Given the description of an element on the screen output the (x, y) to click on. 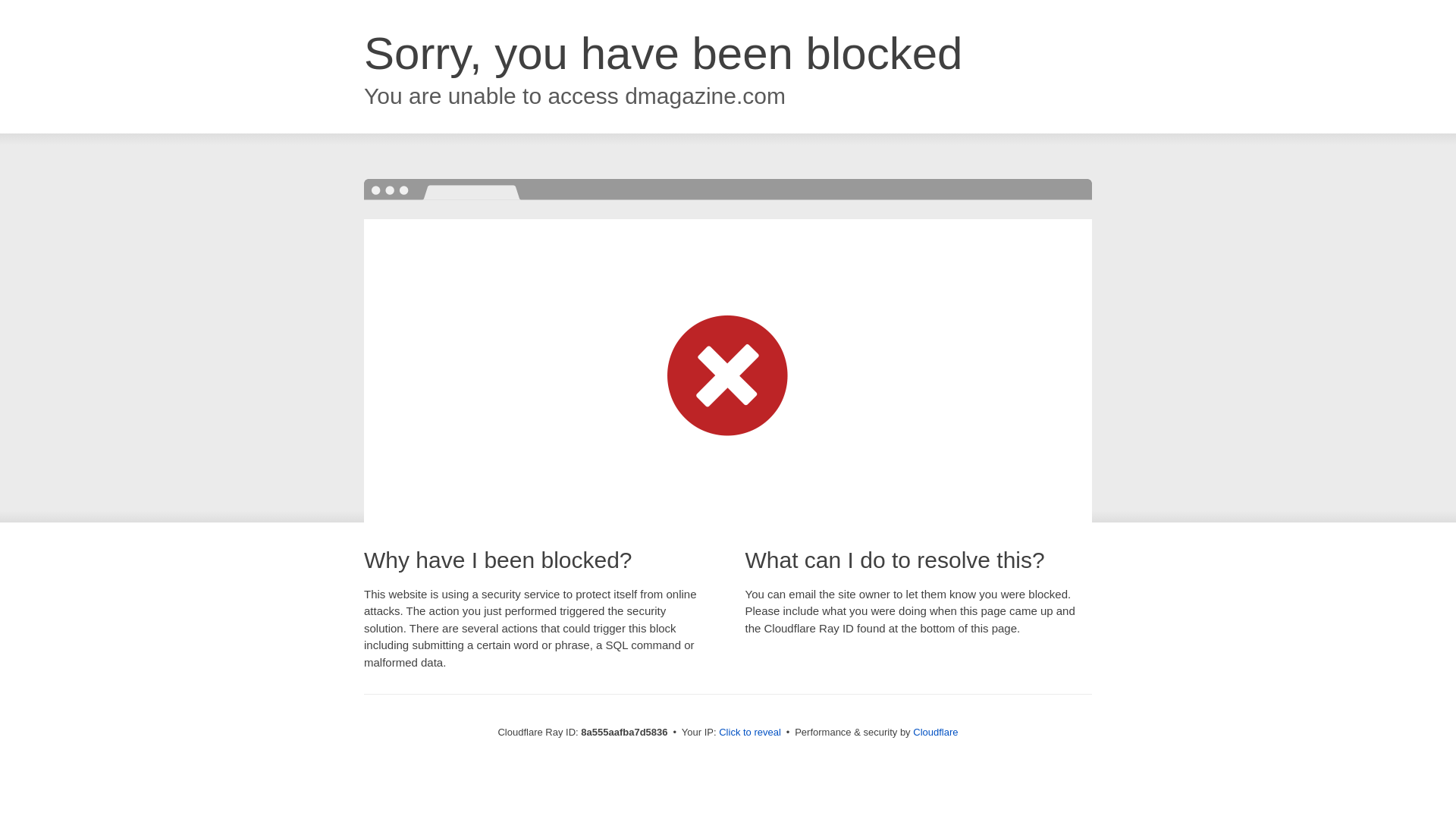
Cloudflare (935, 731)
Click to reveal (749, 732)
